Given the description of an element on the screen output the (x, y) to click on. 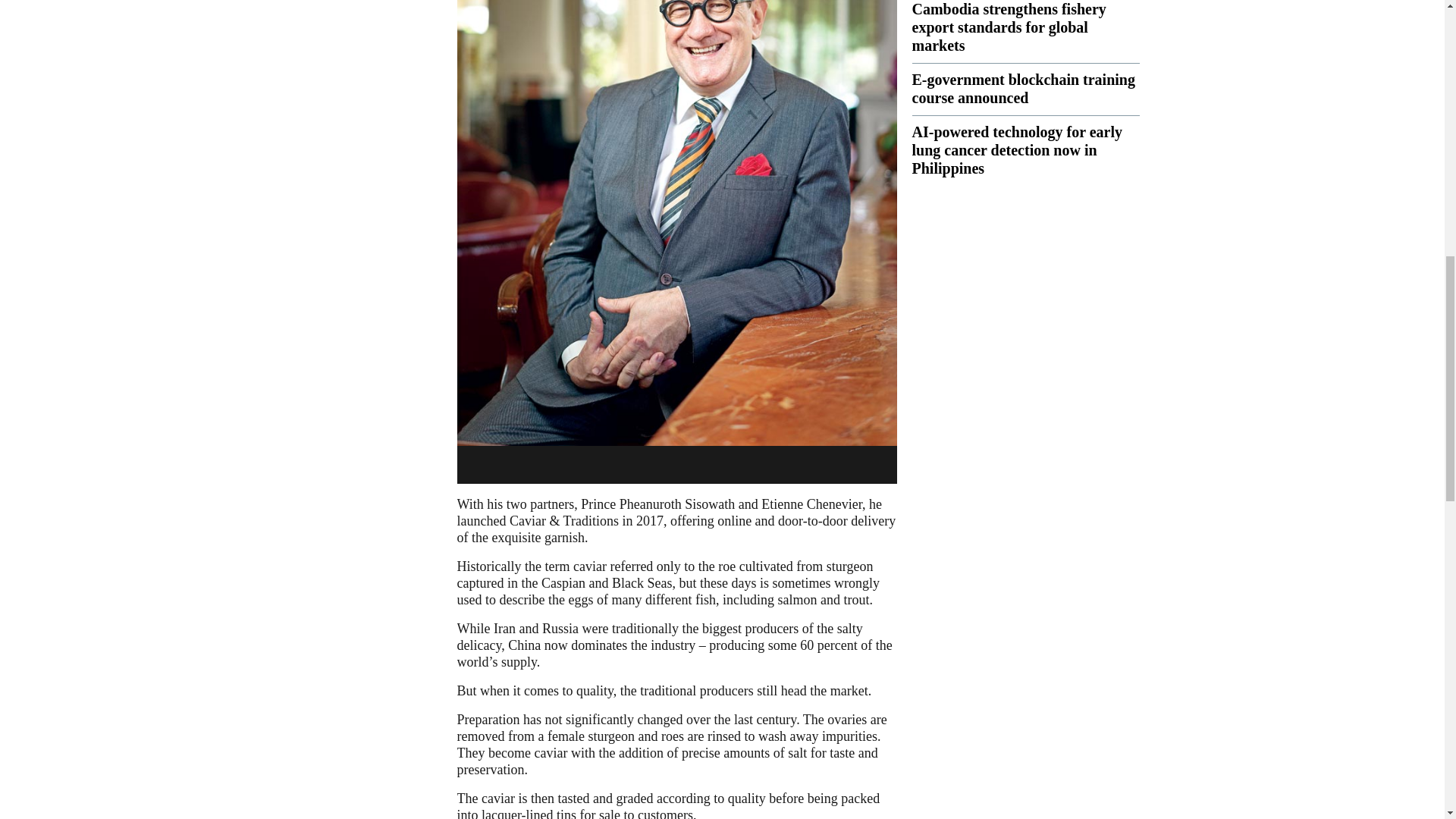
E-government blockchain training course announced (1022, 88)
